Given the description of an element on the screen output the (x, y) to click on. 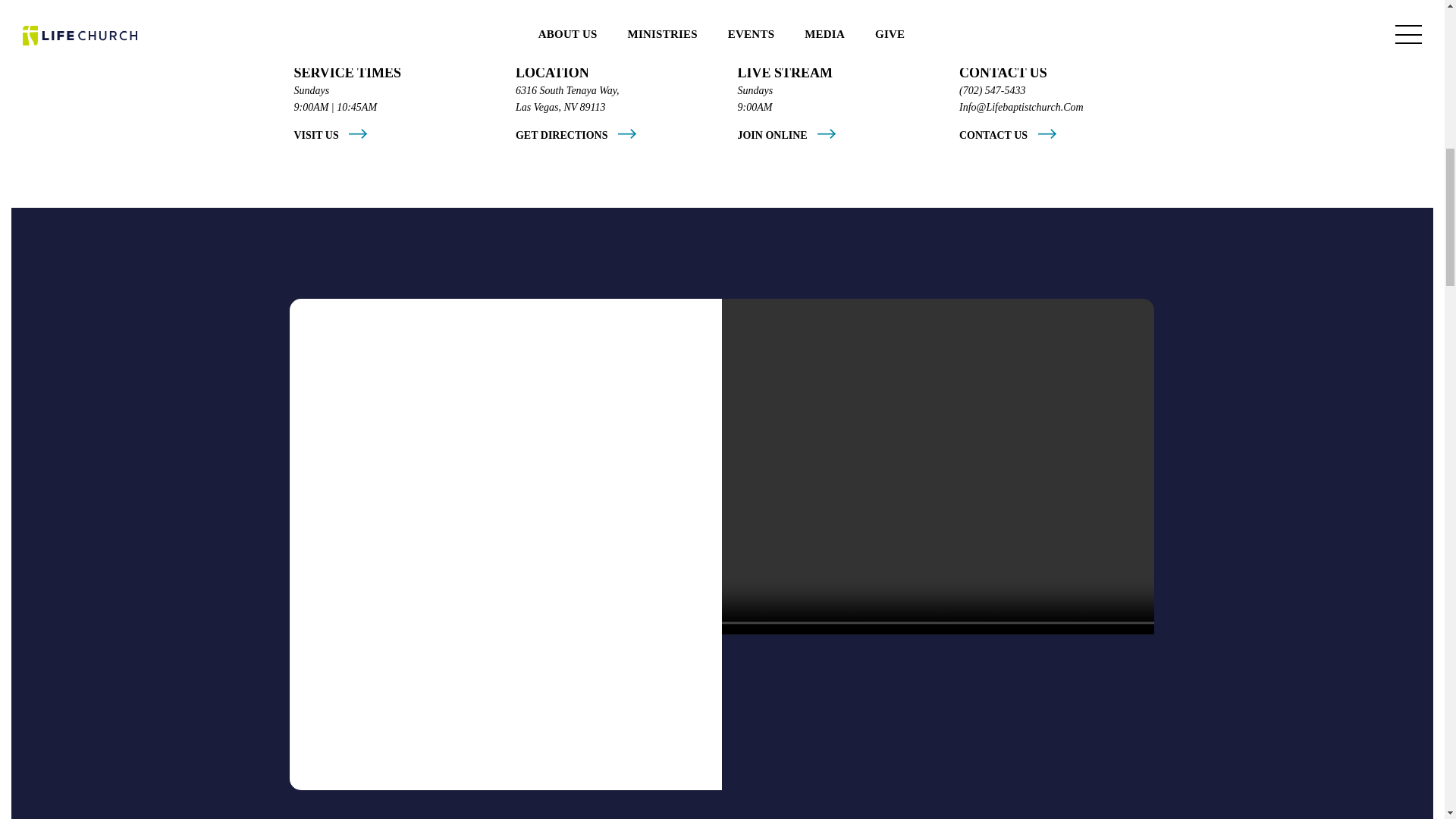
ABOUT US (122, 296)
MEN'S BREAKFAST (269, 110)
VISIT US (111, 252)
WATCH NOW (827, 679)
EVENTS (108, 431)
MEDIA (101, 477)
CONNECT (121, 386)
MISSIONS (120, 521)
GIVE (89, 567)
MINISTRIES (135, 342)
HOME (97, 207)
LEARN MORE (254, 164)
PRAYER (109, 611)
